Given the description of an element on the screen output the (x, y) to click on. 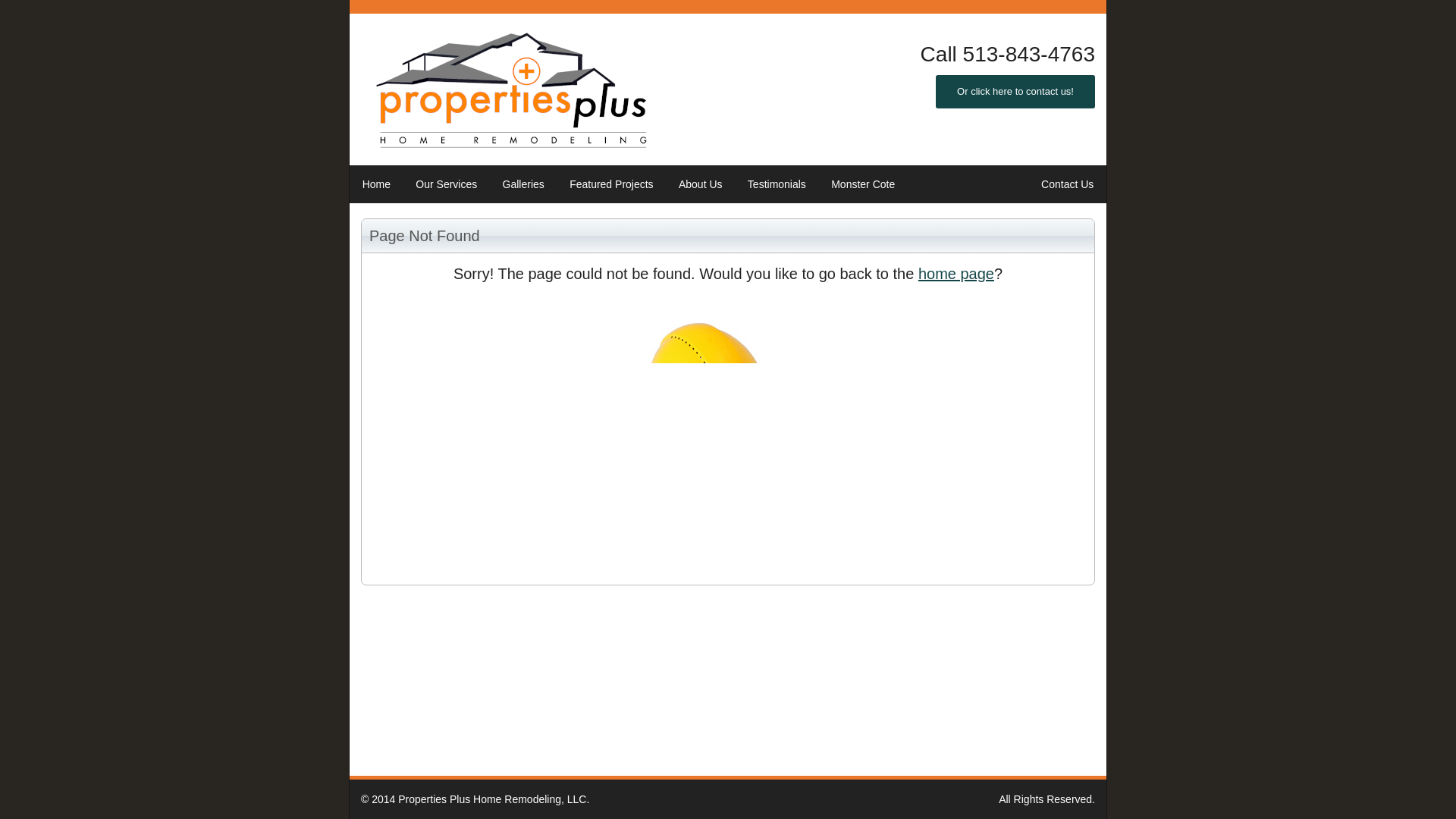
Monster Cote (862, 184)
Galleries (523, 184)
Featured Projects (610, 184)
home page (956, 273)
Our Services (446, 184)
Home (376, 184)
About Us (700, 184)
Contact Us (1066, 184)
Or click here to contact us! (1015, 91)
Testimonials (776, 184)
